Given the description of an element on the screen output the (x, y) to click on. 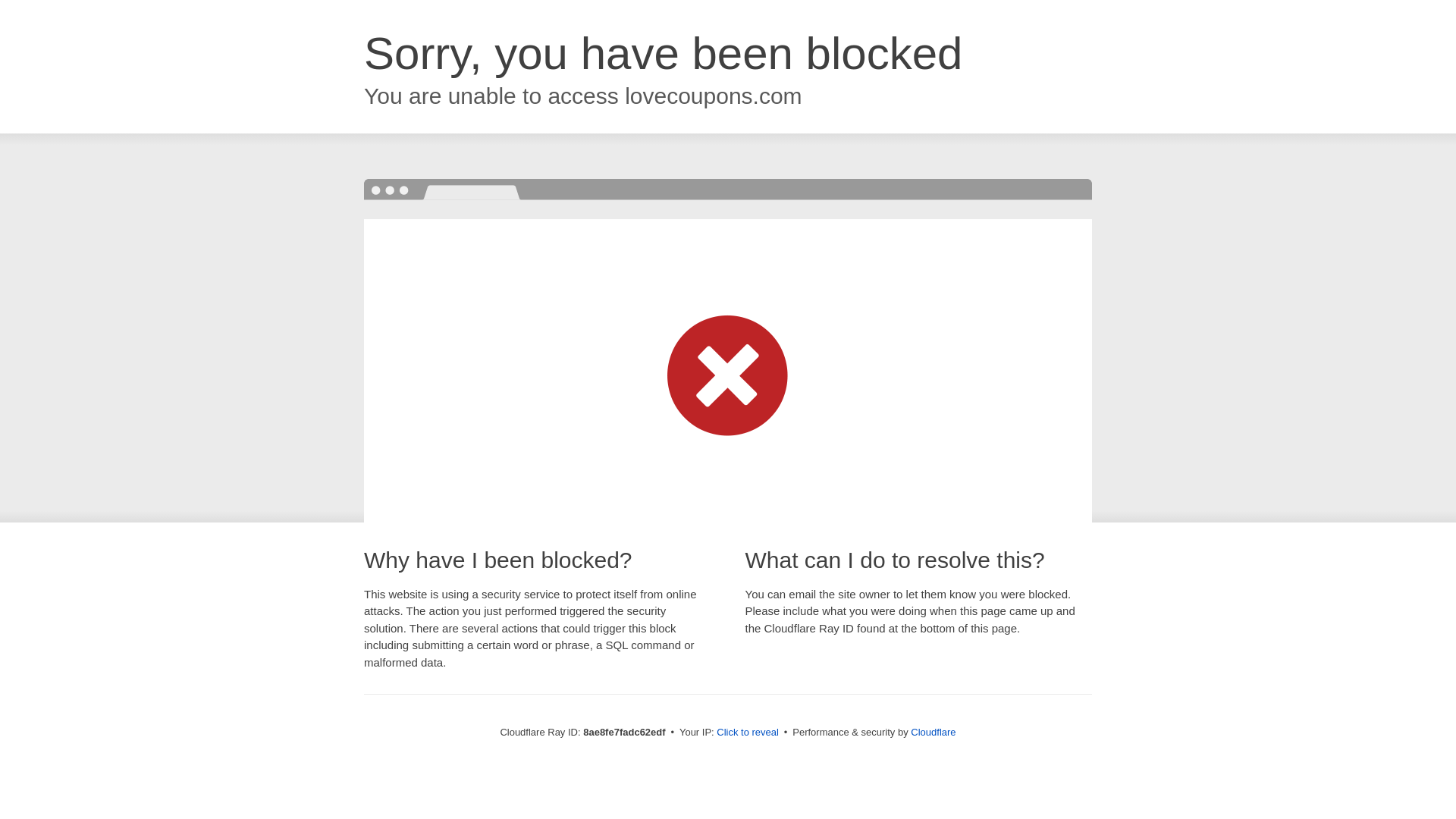
Cloudflare (933, 731)
Click to reveal (747, 732)
